Given the description of an element on the screen output the (x, y) to click on. 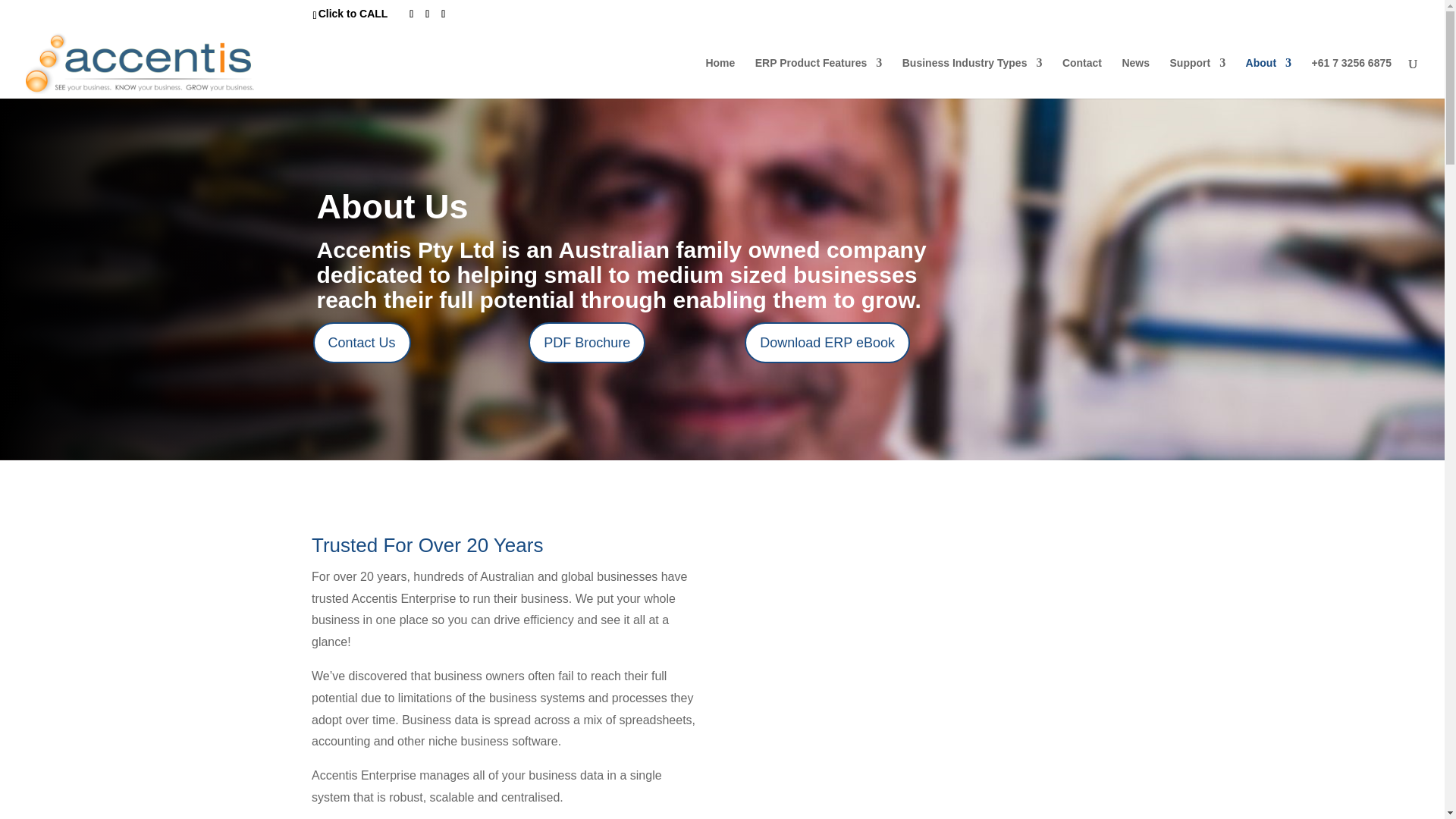
Business Industry Types (972, 77)
Click to CALL (353, 13)
ERP Product Features (818, 77)
